Given the description of an element on the screen output the (x, y) to click on. 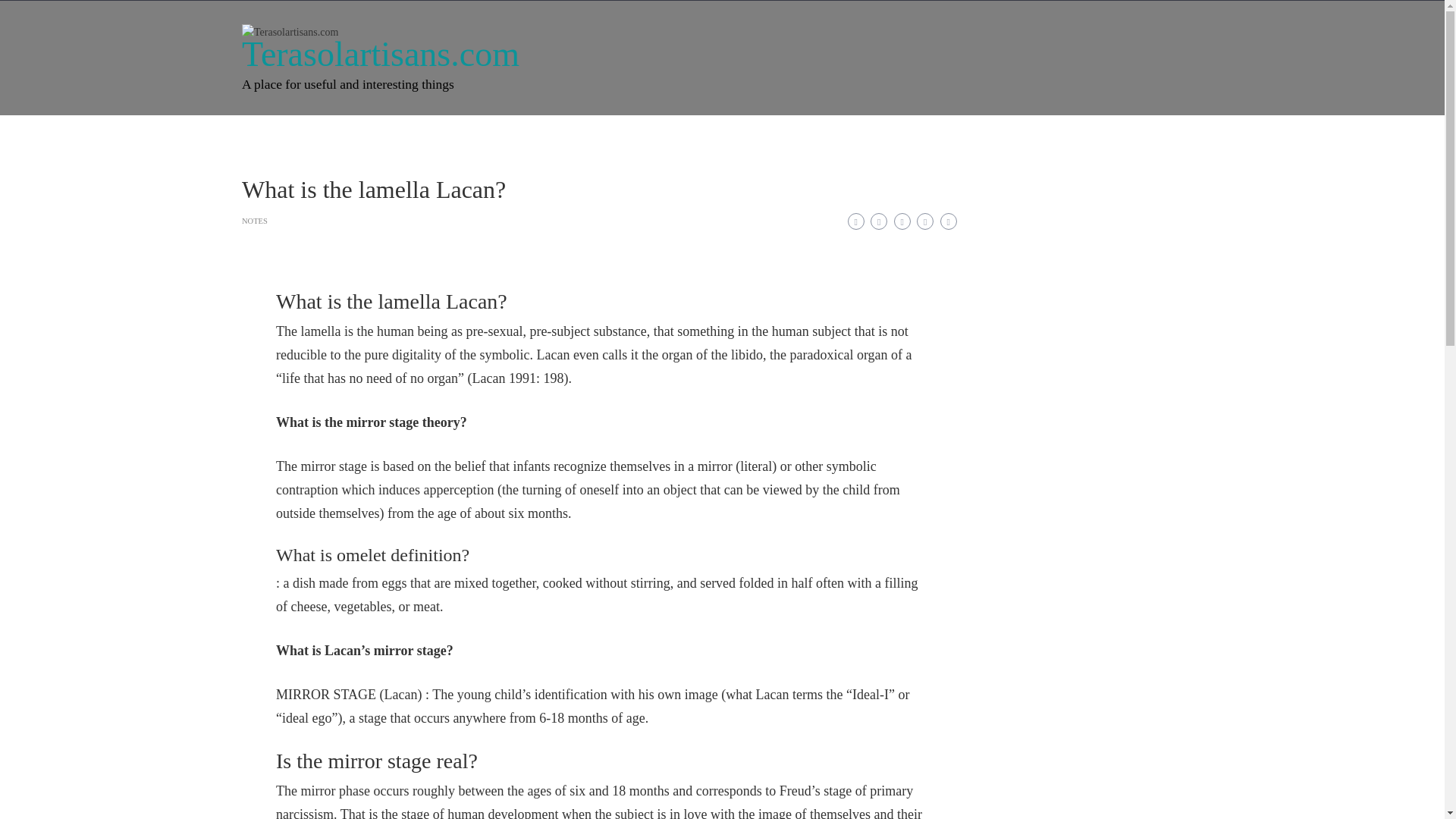
Feedback (760, 134)
Mixed (602, 134)
NOTES (254, 221)
Helpful tips (679, 134)
Life (414, 134)
Advice (536, 134)
Notes (472, 134)
Home (273, 134)
Interesting (346, 134)
Terasolartisans.com (380, 54)
